Given the description of an element on the screen output the (x, y) to click on. 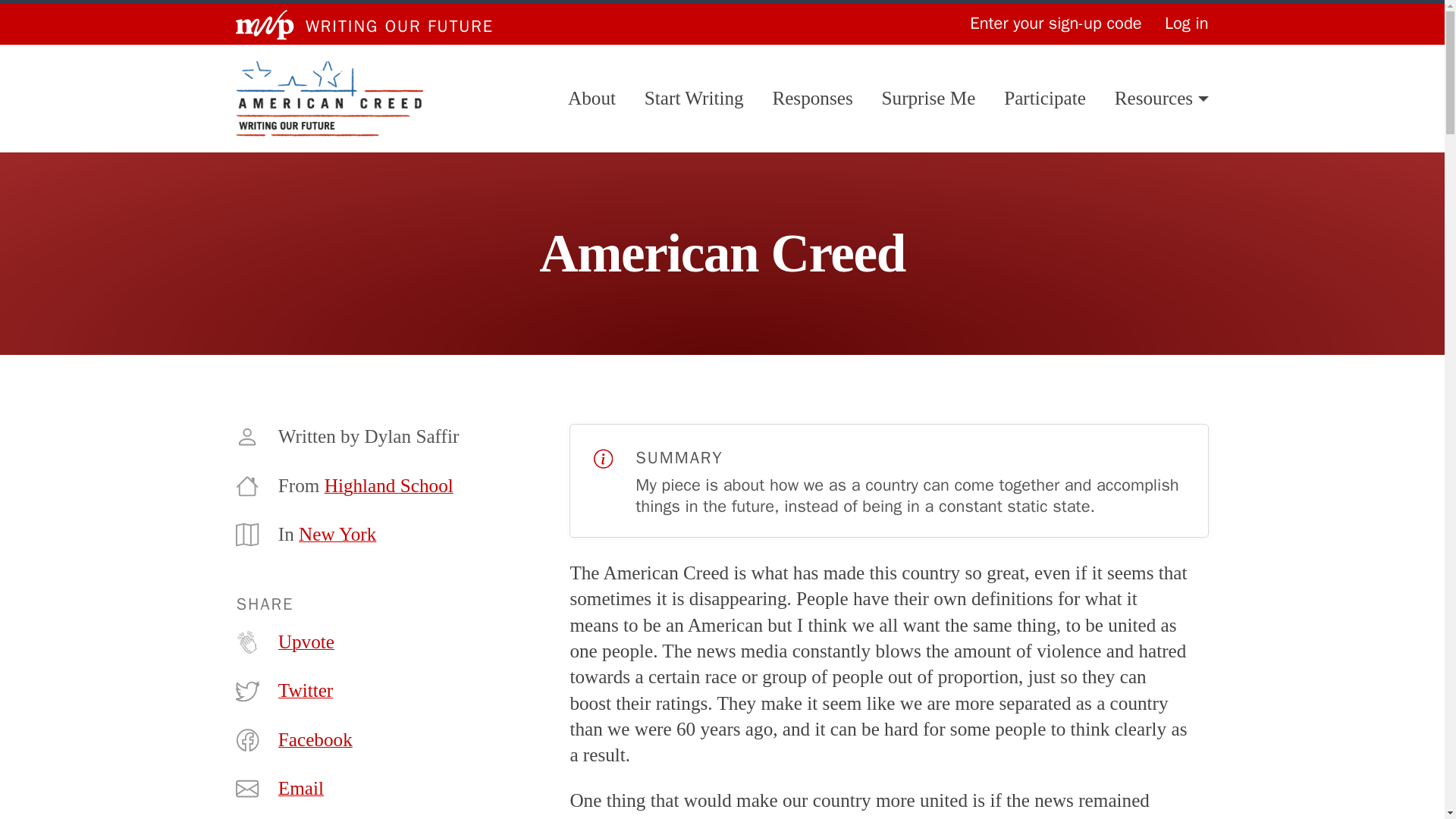
Start Writing (694, 98)
Participate (1045, 98)
Email (300, 788)
Resources (1161, 98)
Highland School (388, 485)
National Writing Project (264, 24)
Responses (811, 98)
New York (336, 534)
Twitter (305, 690)
Enter your sign-up code (1055, 24)
